Given the description of an element on the screen output the (x, y) to click on. 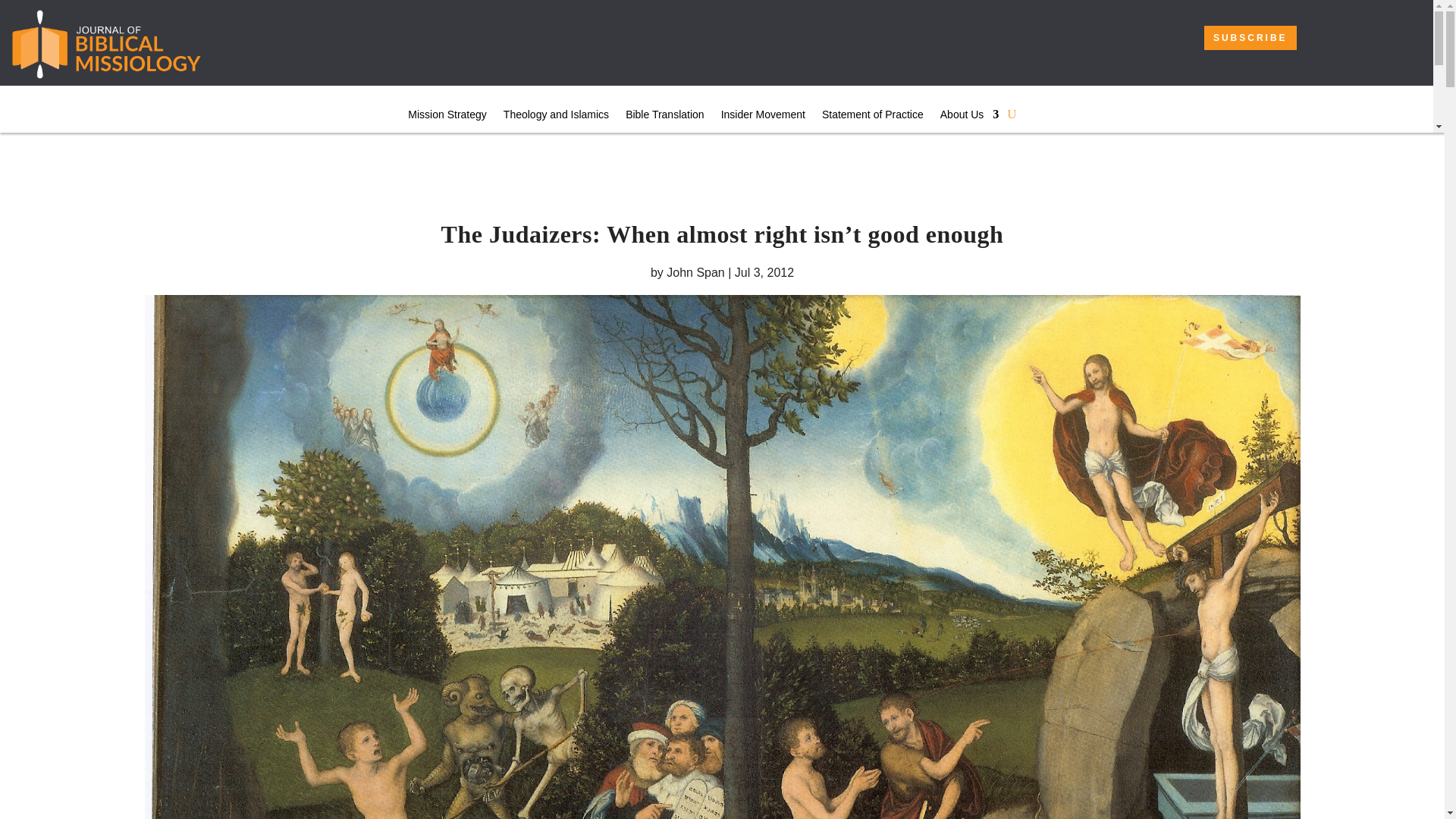
Statement of Practice (872, 117)
Mission Strategy (446, 117)
Insider Movement (762, 117)
John Span (695, 272)
About Us (969, 117)
Theology and Islamics (555, 117)
Bible Translation (665, 117)
SUBSCRIBE (1250, 37)
Posts by John Span (695, 272)
